Given the description of an element on the screen output the (x, y) to click on. 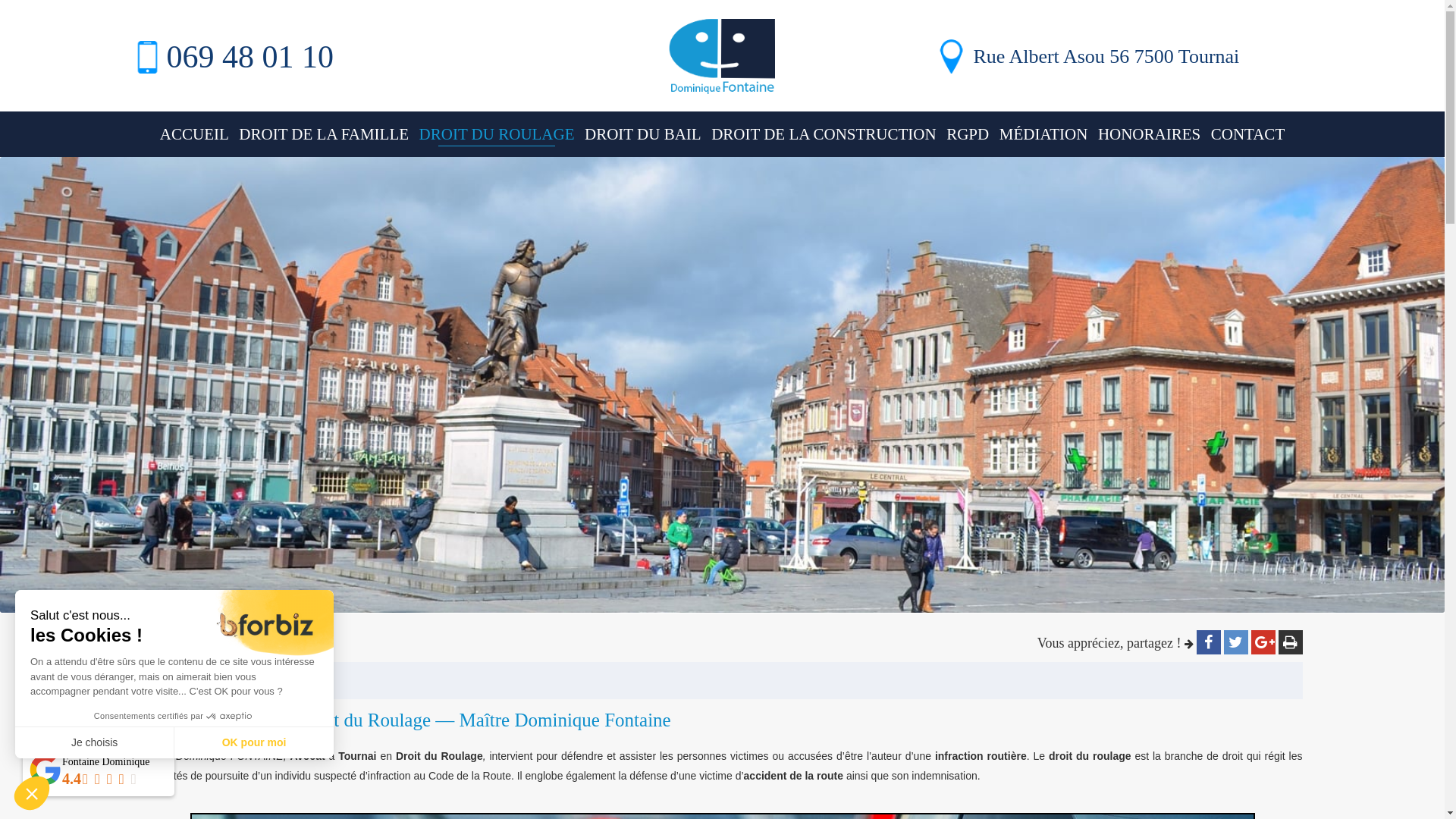
Dominique Fontaine Element type: hover (721, 64)
RGPD Element type: text (967, 133)
DROIT DU BAIL Element type: text (642, 133)
Partager sur Google + Element type: hover (1263, 642)
DROIT DE LA FAMILLE Element type: text (323, 133)
Imprimer la carte de visite Element type: hover (1290, 642)
Partager sur Twitter Element type: hover (1235, 642)
Partager sur Facebook Element type: hover (1208, 642)
Rue Albert Asou 56 7500 Tournai Element type: text (1123, 48)
ACCUEIL Element type: text (194, 133)
HONORAIRES Element type: text (1149, 133)
DROIT DU ROULAGE Element type: text (496, 133)
DROIT DE LA CONSTRUCTION Element type: text (823, 133)
CONTACT Element type: text (1247, 133)
